Given the description of an element on the screen output the (x, y) to click on. 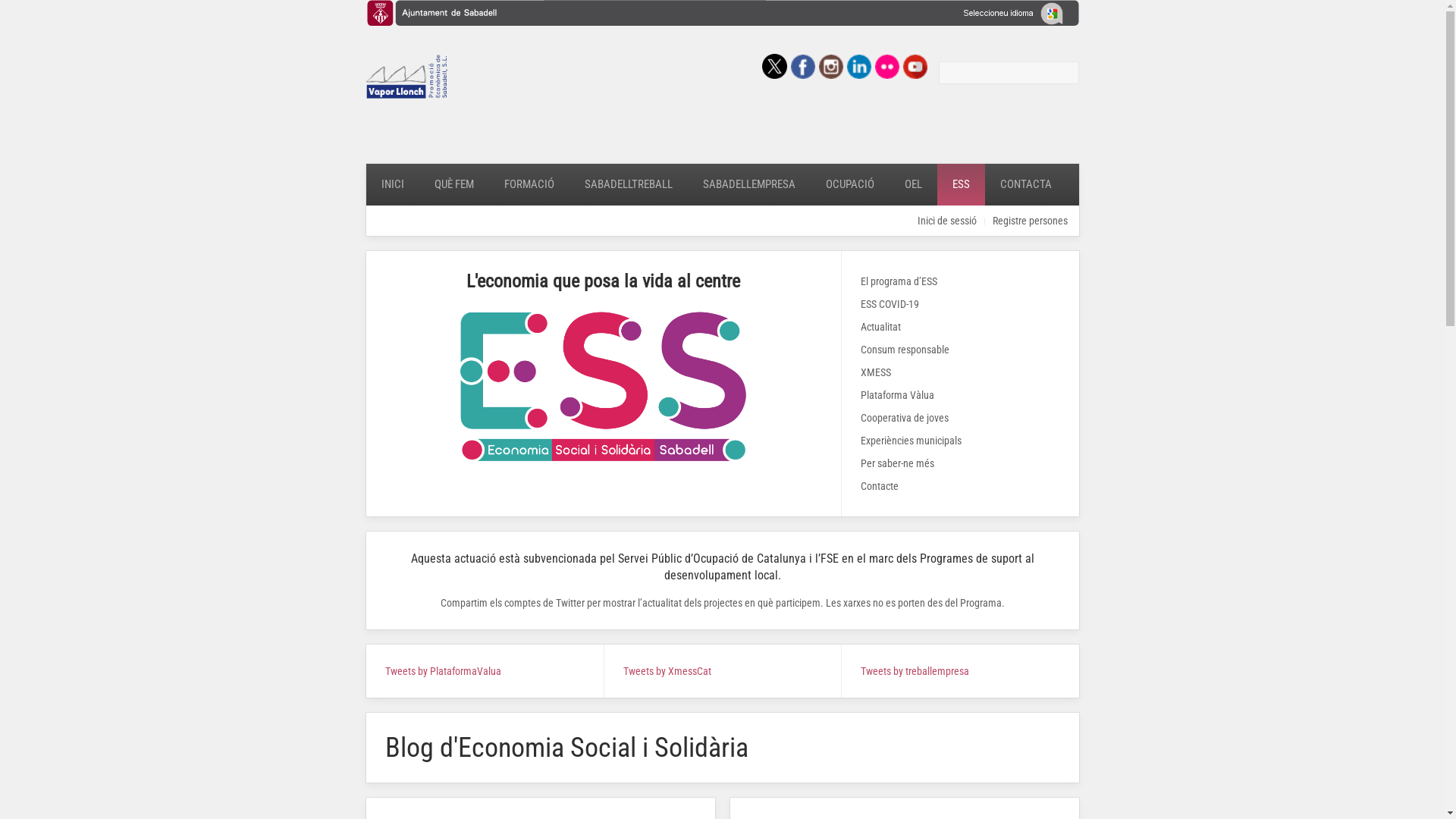
ESS Element type: text (961, 184)
Registre persones Element type: text (1028, 220)
Cerca Element type: hover (1008, 72)
Contacte Element type: text (959, 485)
SABADELLEMPRESA Element type: text (748, 184)
Consum responsable Element type: text (959, 349)
CONTACTA Element type: text (1025, 184)
Tweets by treballempresa Element type: text (914, 671)
ESS COVID-19 Element type: text (959, 303)
INICI Element type: text (391, 184)
Cooperativa de joves Element type: text (959, 417)
OEL Element type: text (912, 184)
SABADELLTREBALL Element type: text (627, 184)
Actualitat Element type: text (959, 326)
Tweets by XmessCat Element type: text (667, 671)
Tweets by PlataformaValua Element type: text (443, 671)
XMESS Element type: text (959, 371)
